Given the description of an element on the screen output the (x, y) to click on. 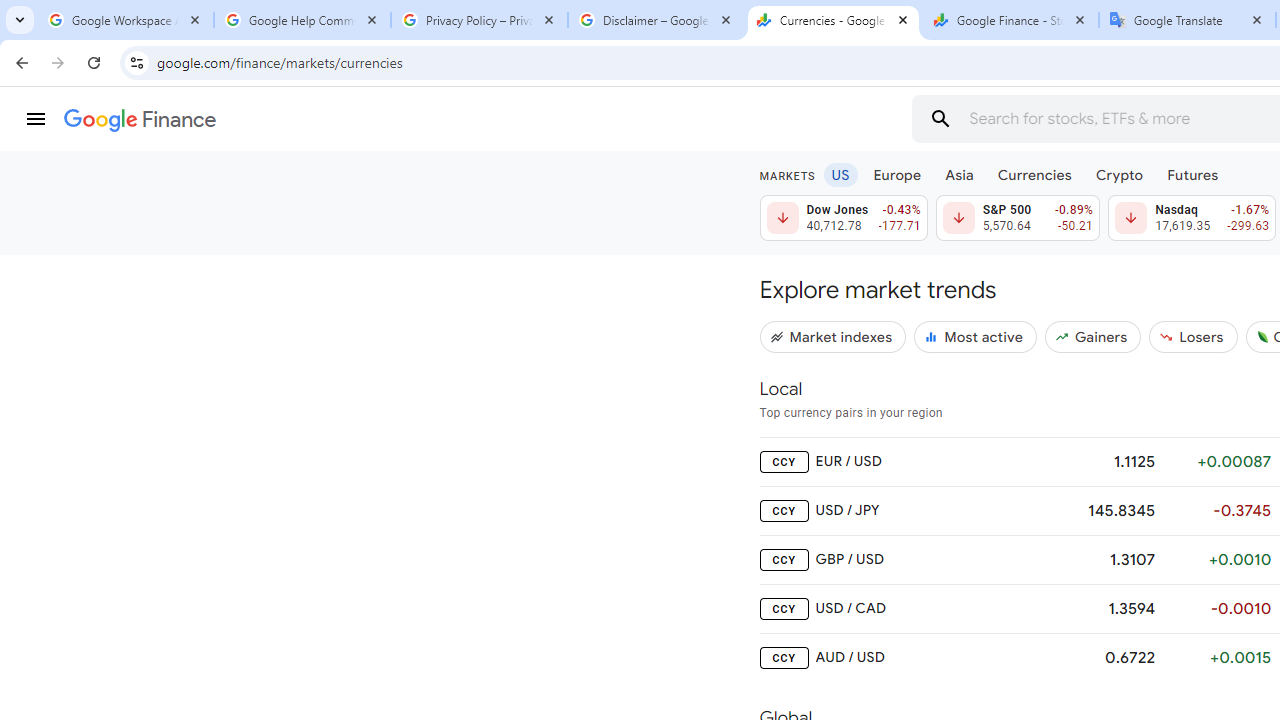
Most active (975, 336)
